Given the description of an element on the screen output the (x, y) to click on. 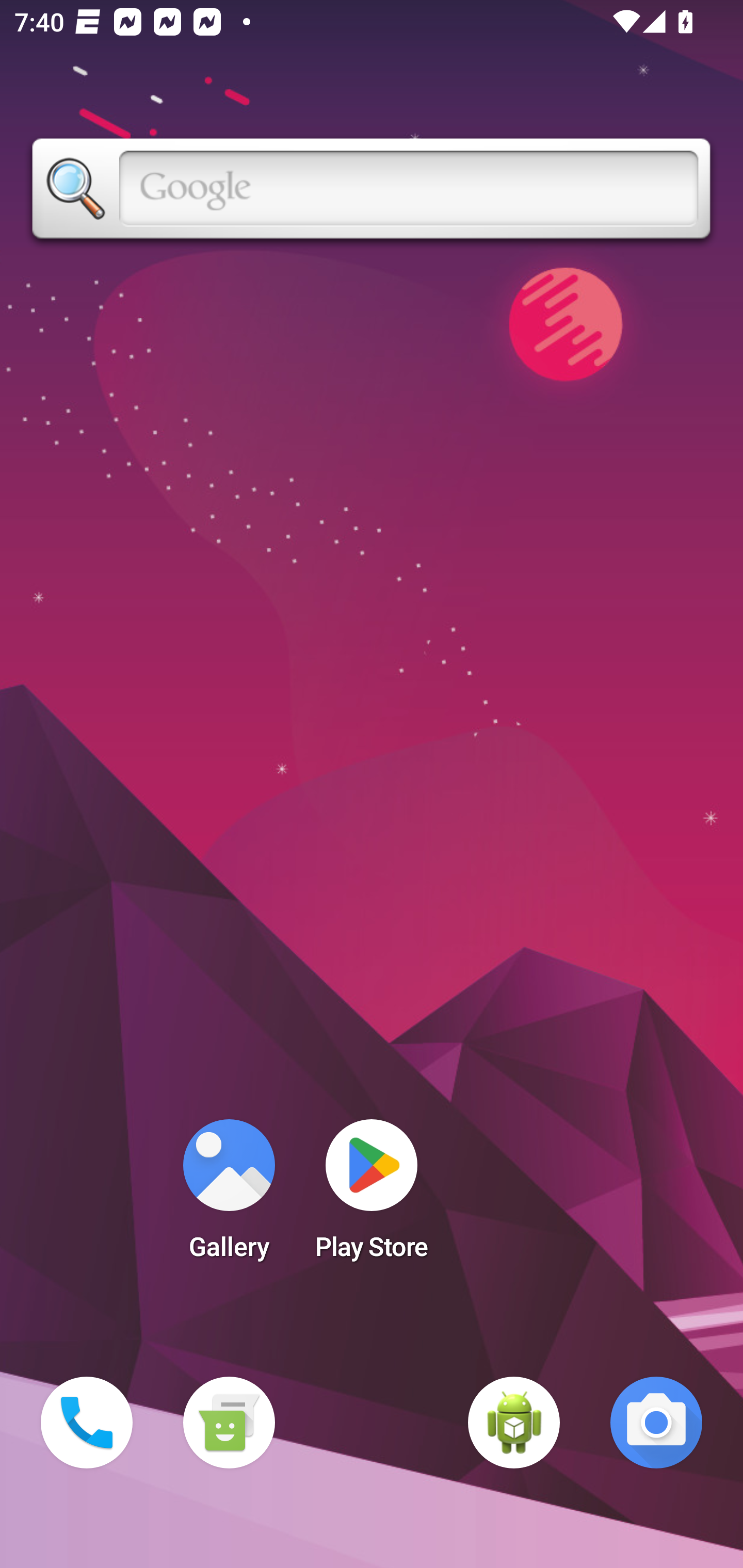
Gallery (228, 1195)
Play Store (371, 1195)
Phone (86, 1422)
Messaging (228, 1422)
WebView Browser Tester (513, 1422)
Camera (656, 1422)
